Given the description of an element on the screen output the (x, y) to click on. 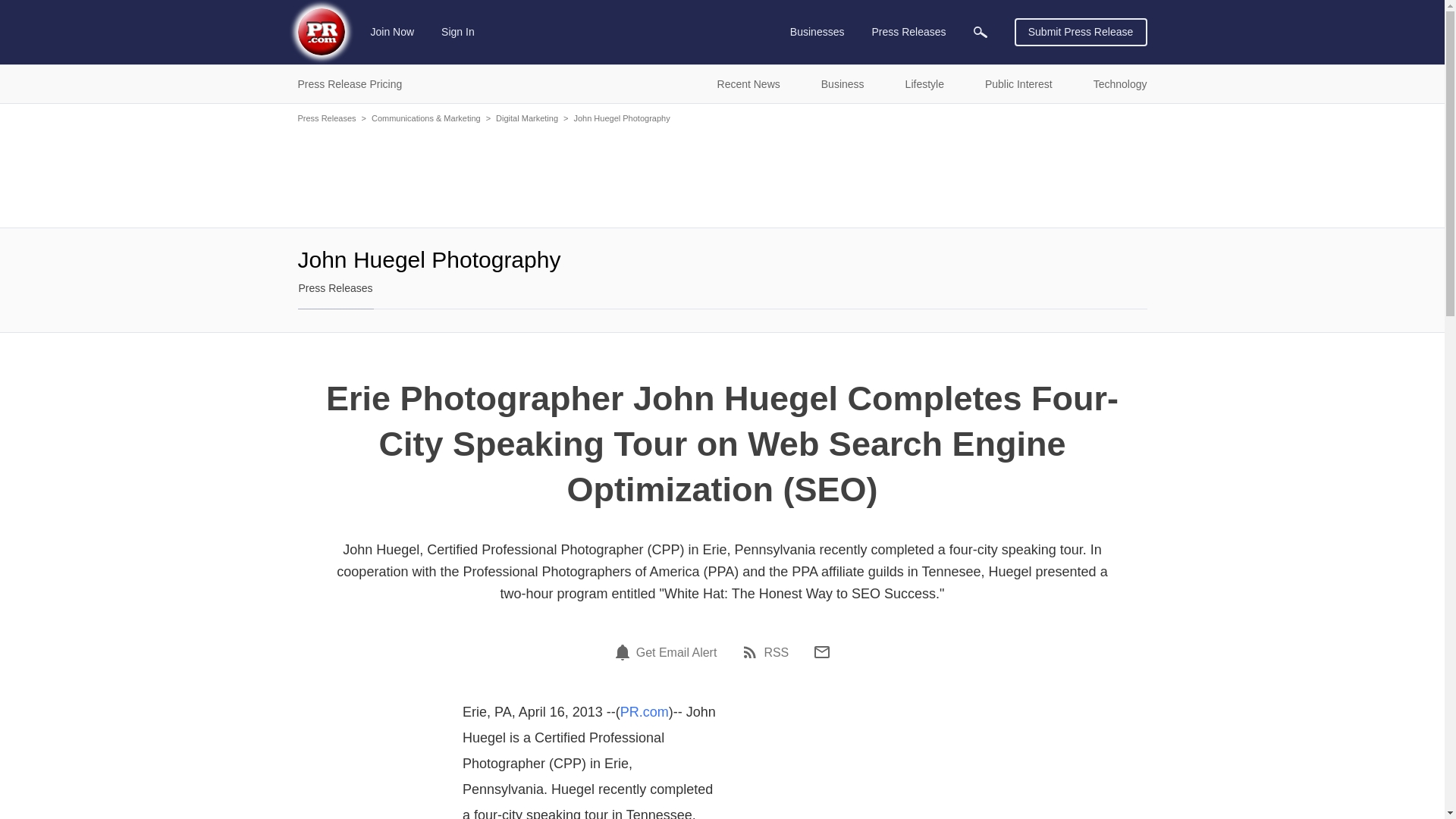
Press Releases (908, 31)
Join Now (392, 31)
Businesses (817, 31)
Advertisement (722, 174)
Submit Press Release (1080, 31)
Sign In (458, 31)
Advertisement (867, 762)
